Given the description of an element on the screen output the (x, y) to click on. 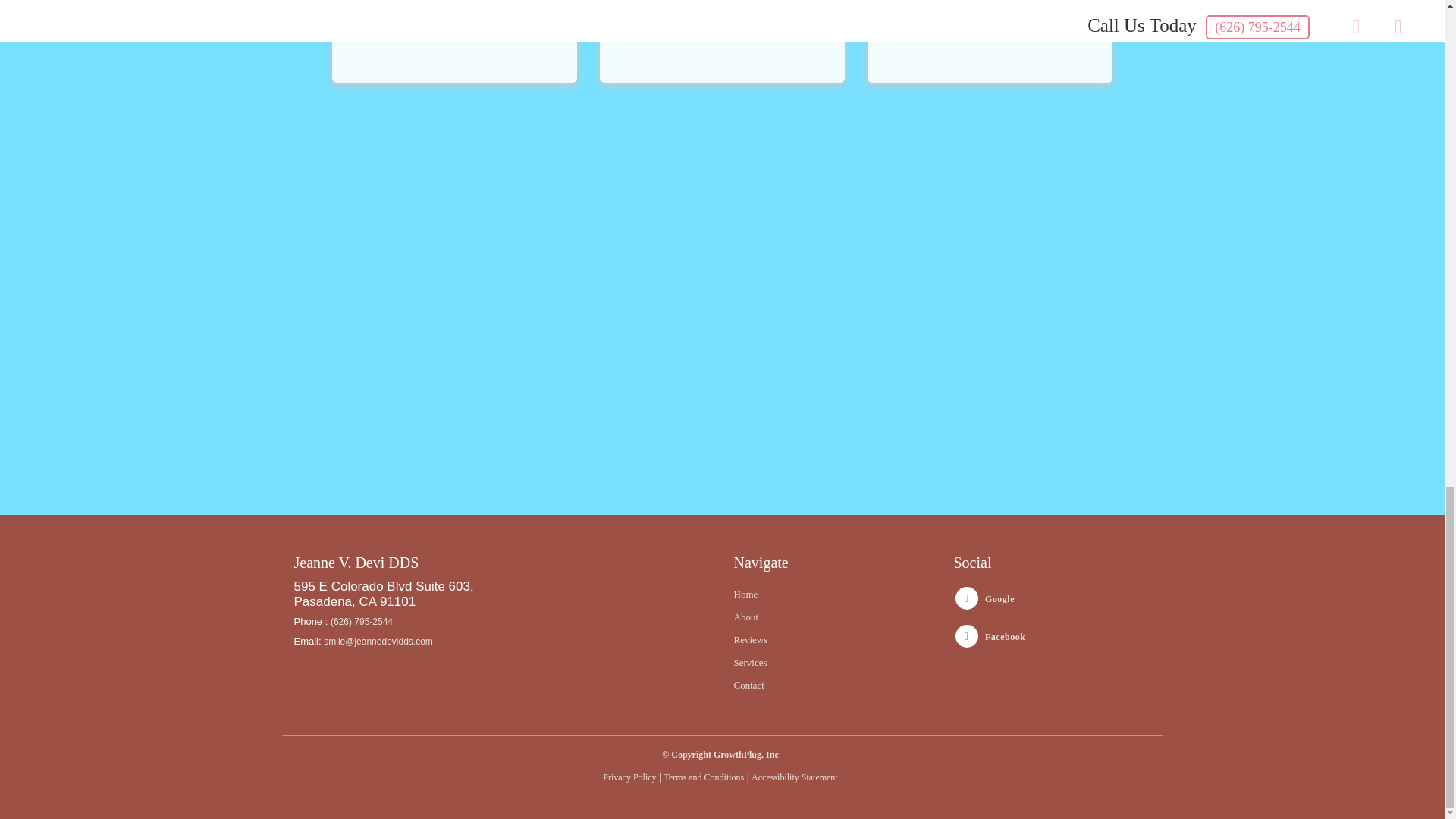
Contact (748, 685)
Home (745, 593)
Services (750, 662)
About (745, 616)
Reviews (750, 639)
